Given the description of an element on the screen output the (x, y) to click on. 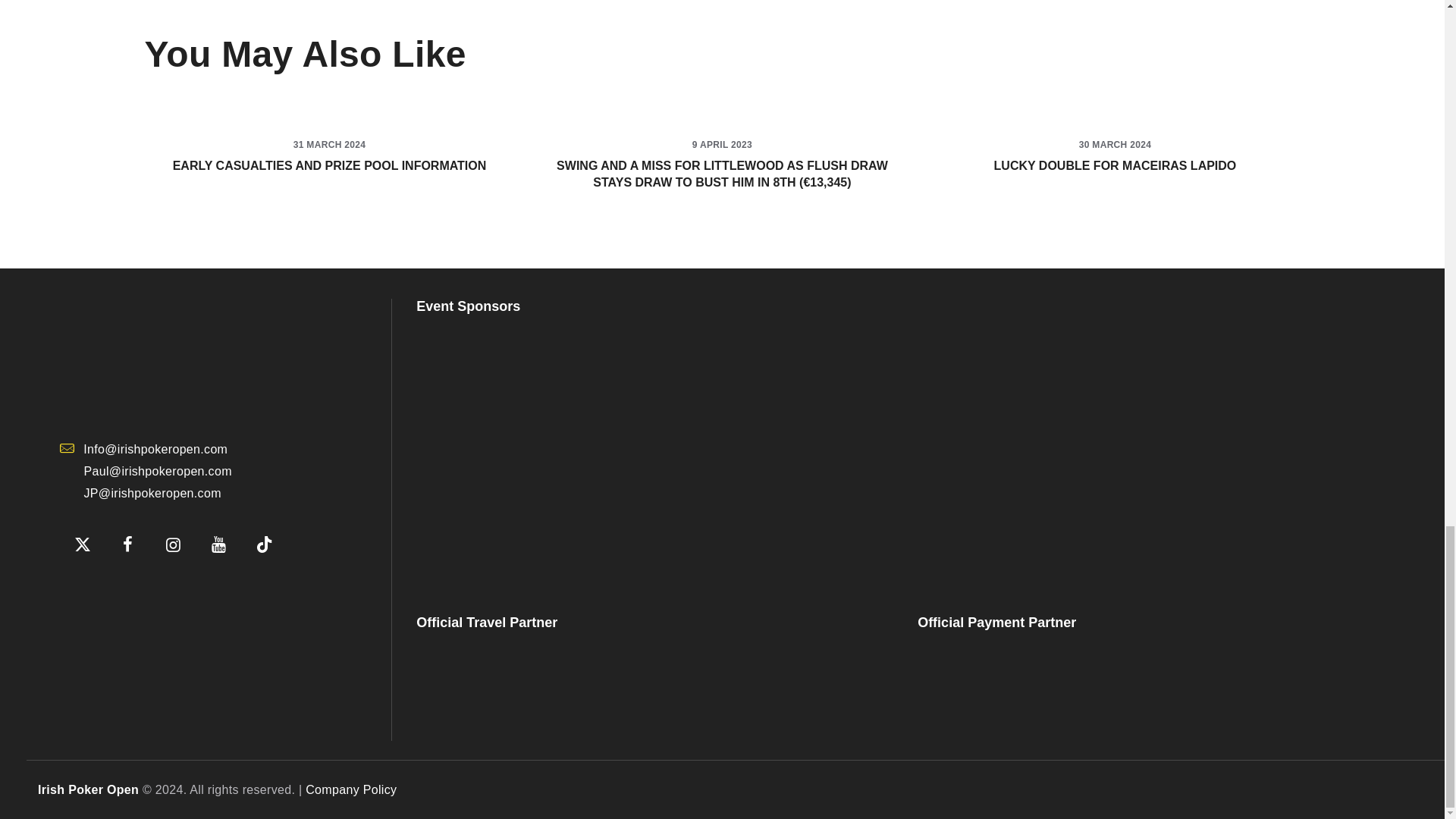
Screen Shot 2023-01-12 at 09.14.15 (135, 589)
TRAVEL WHITE (526, 685)
PSLogoTransparent (652, 452)
cropped-Irish-Open-Logo.jpg (172, 359)
